Given the description of an element on the screen output the (x, y) to click on. 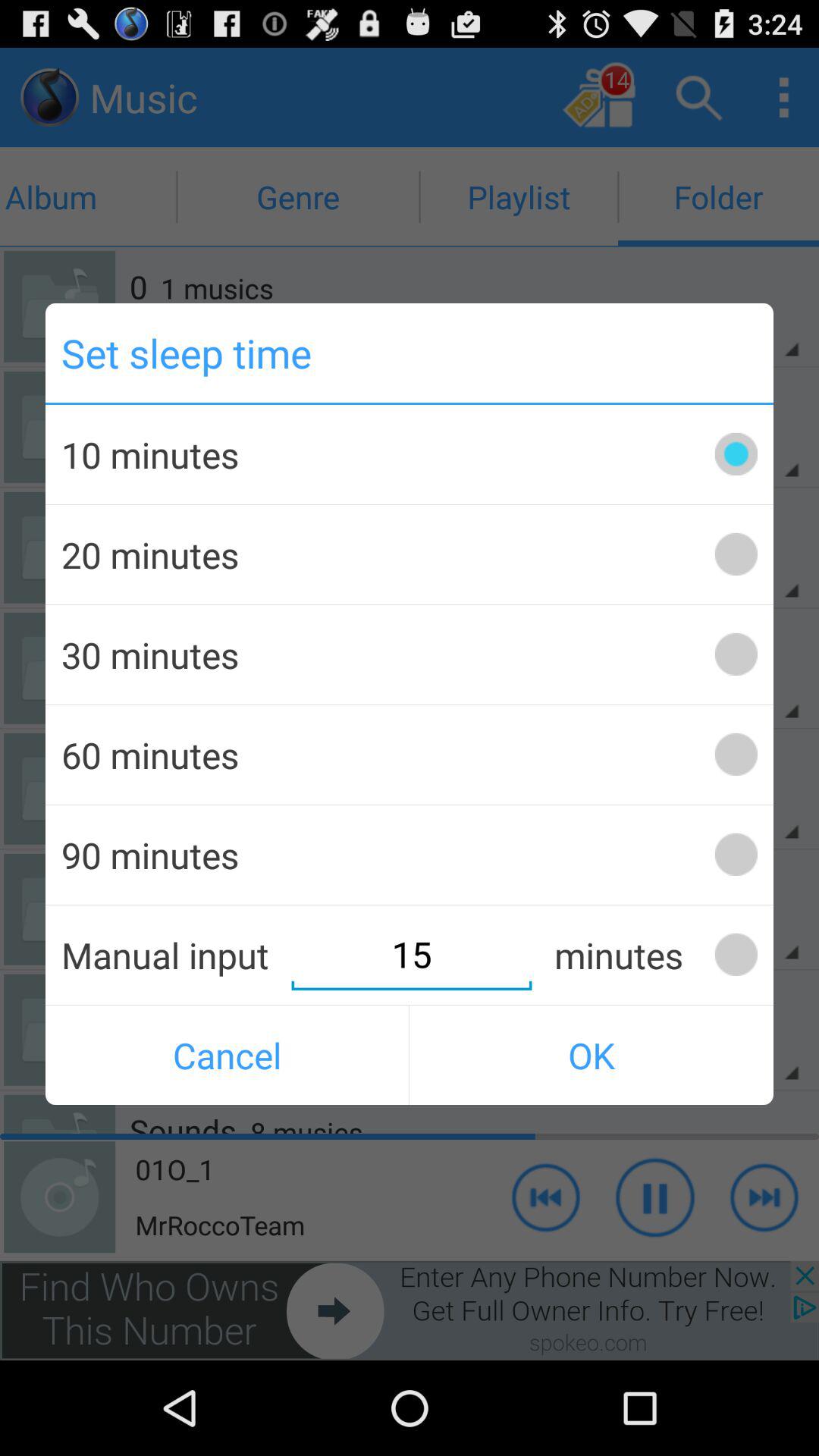
set sleep time option (735, 654)
